Given the description of an element on the screen output the (x, y) to click on. 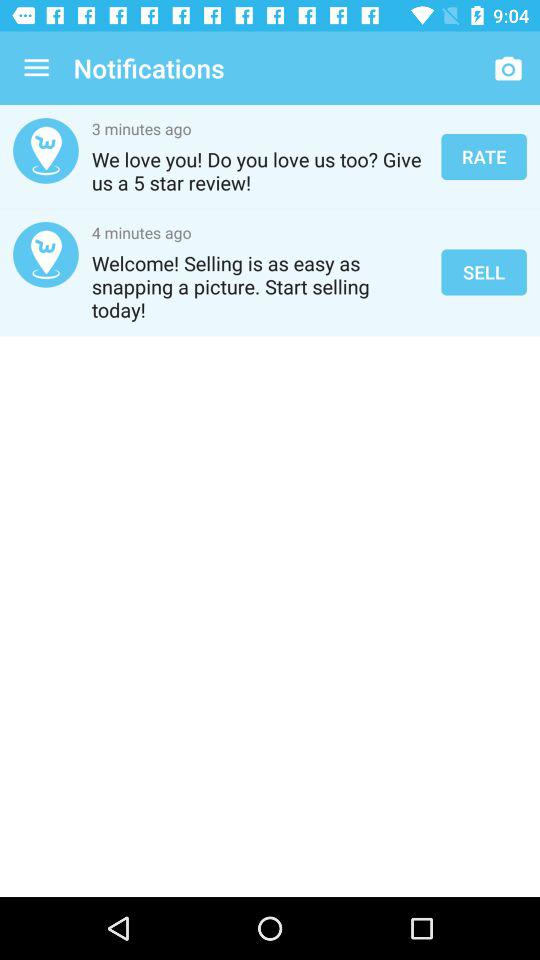
press we love you item (259, 171)
